Given the description of an element on the screen output the (x, y) to click on. 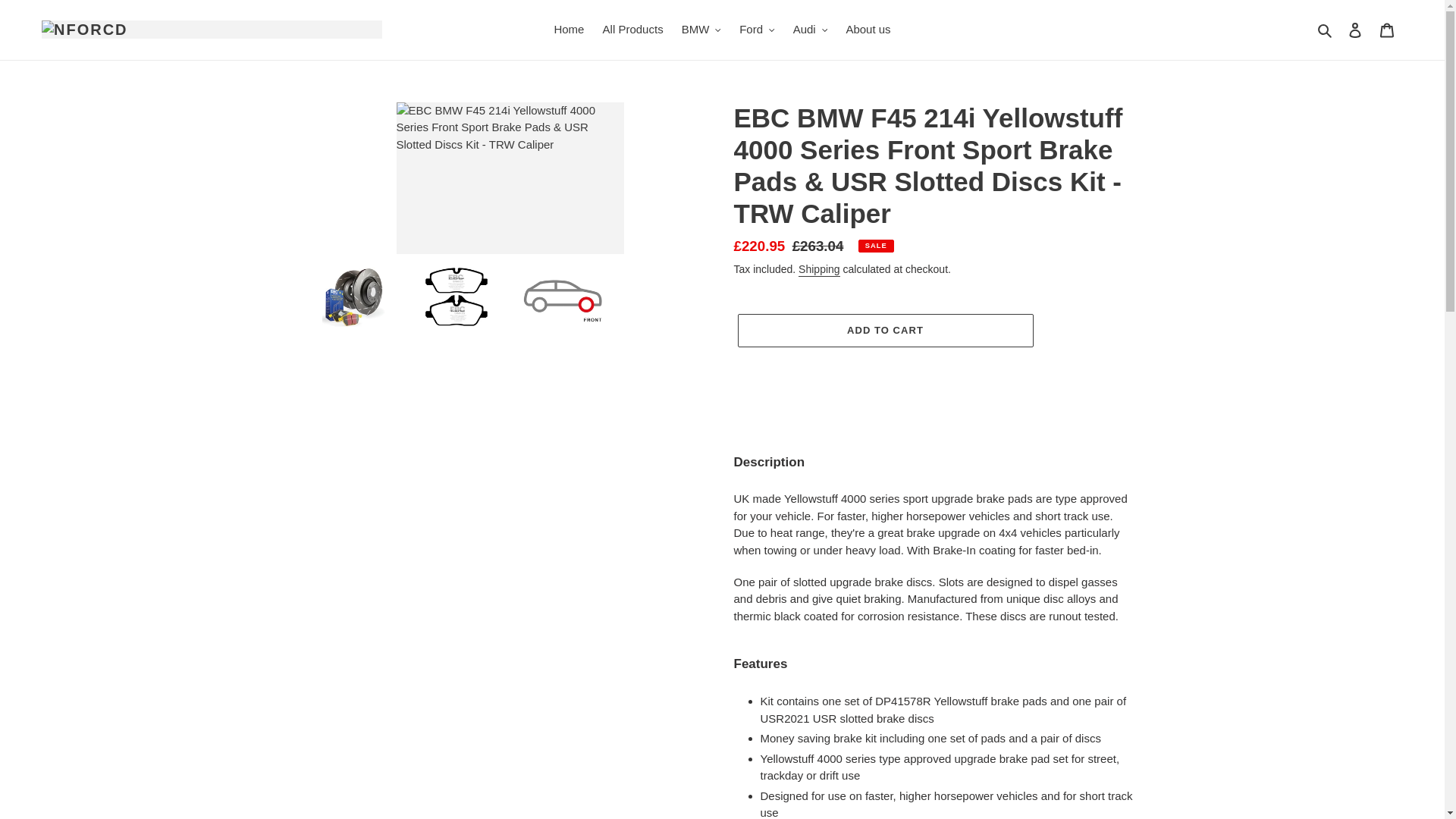
All Products (633, 29)
Ford (756, 29)
BMW (701, 29)
Home (568, 29)
